Given the description of an element on the screen output the (x, y) to click on. 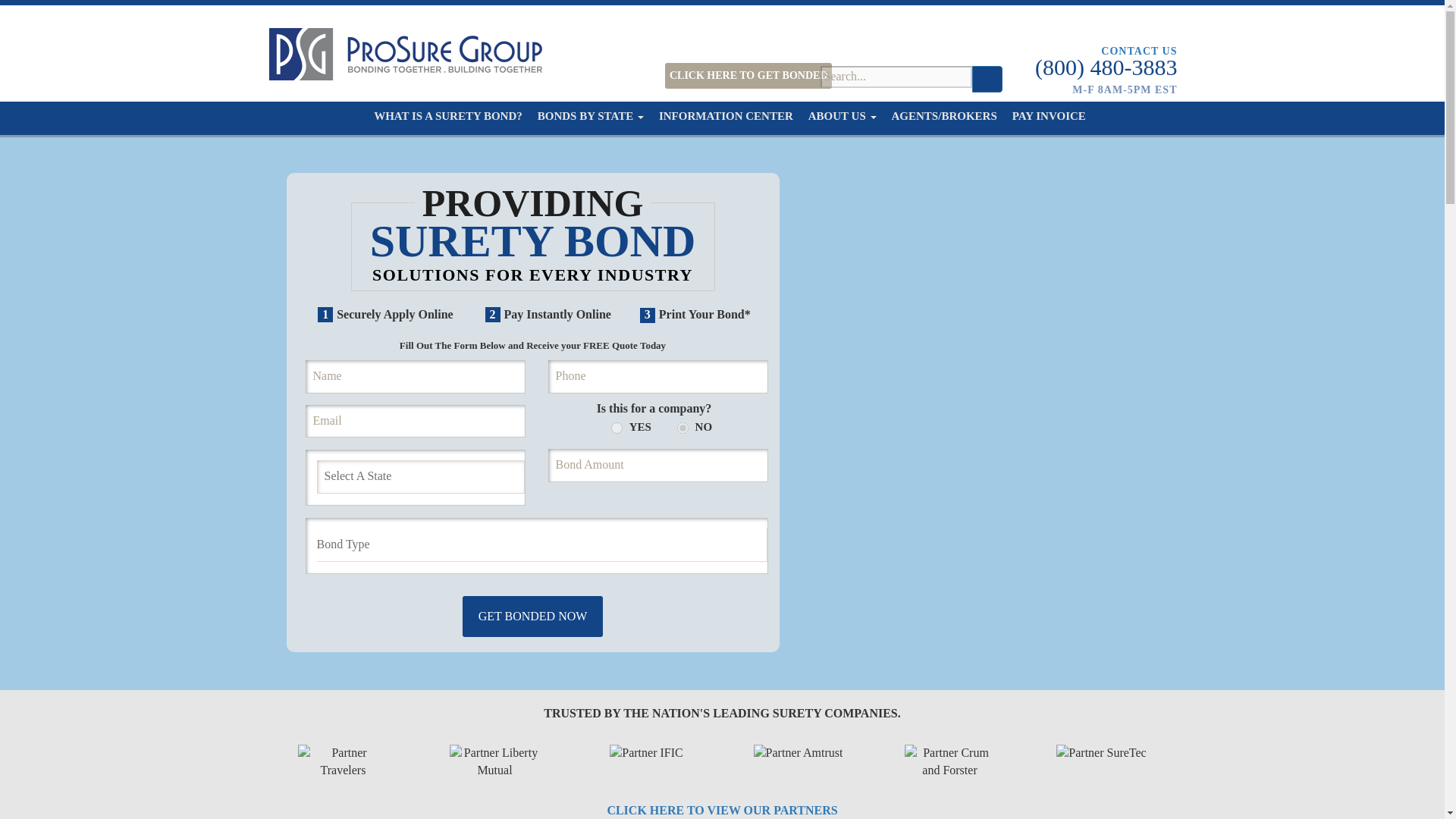
CONTACT US (1105, 50)
WHAT IS A SURETY BOND? (448, 115)
NO (682, 428)
SEARCH (987, 79)
BONDS BY STATE (590, 115)
Click to Contact Us (1105, 50)
Surety Bond Broker (944, 115)
Click Here To Get Bonded (748, 75)
What is a Surety Bond? (448, 115)
YES (617, 428)
